Given the description of an element on the screen output the (x, y) to click on. 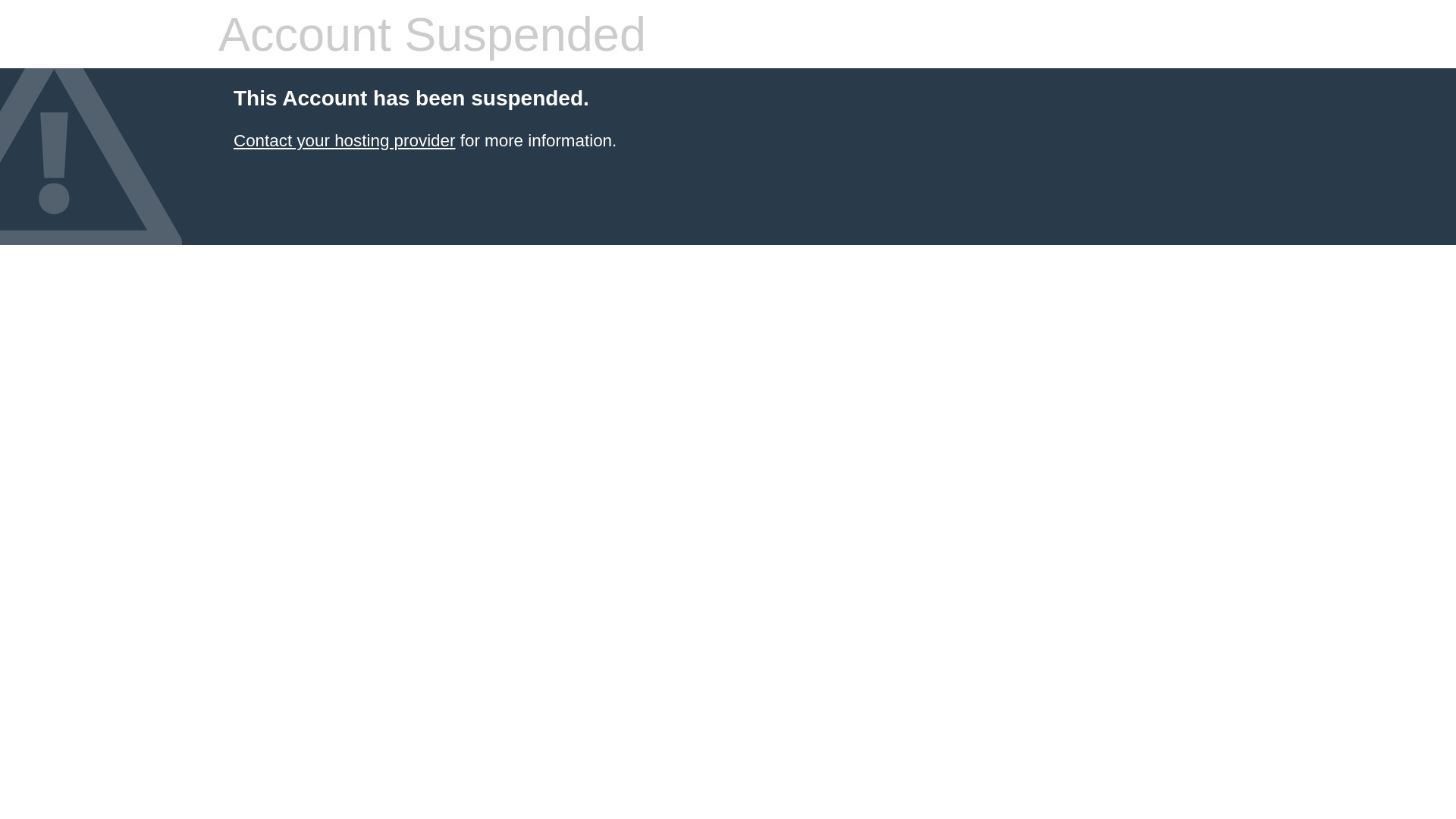
Contact your hosting provider Element type: text (344, 140)
